Given the description of an element on the screen output the (x, y) to click on. 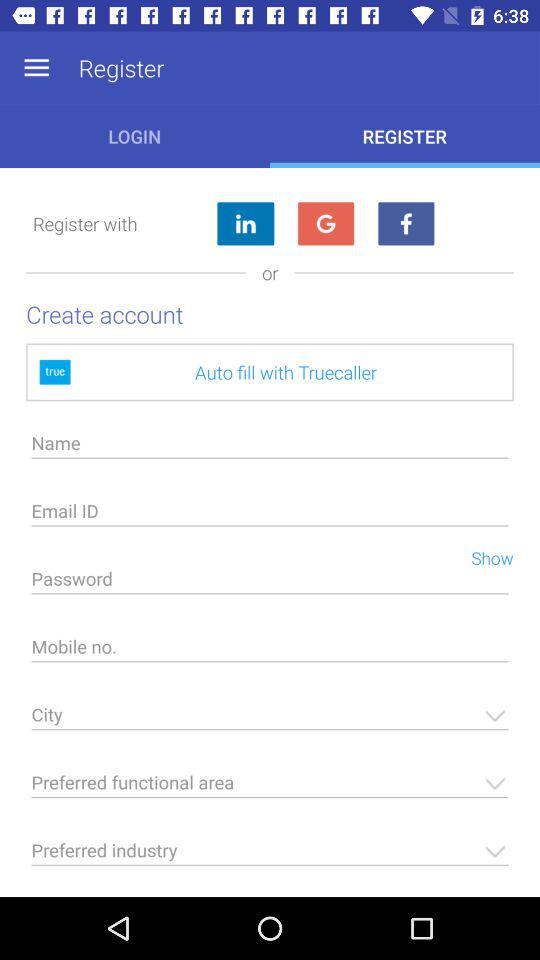
flip until auto fill with item (269, 372)
